Given the description of an element on the screen output the (x, y) to click on. 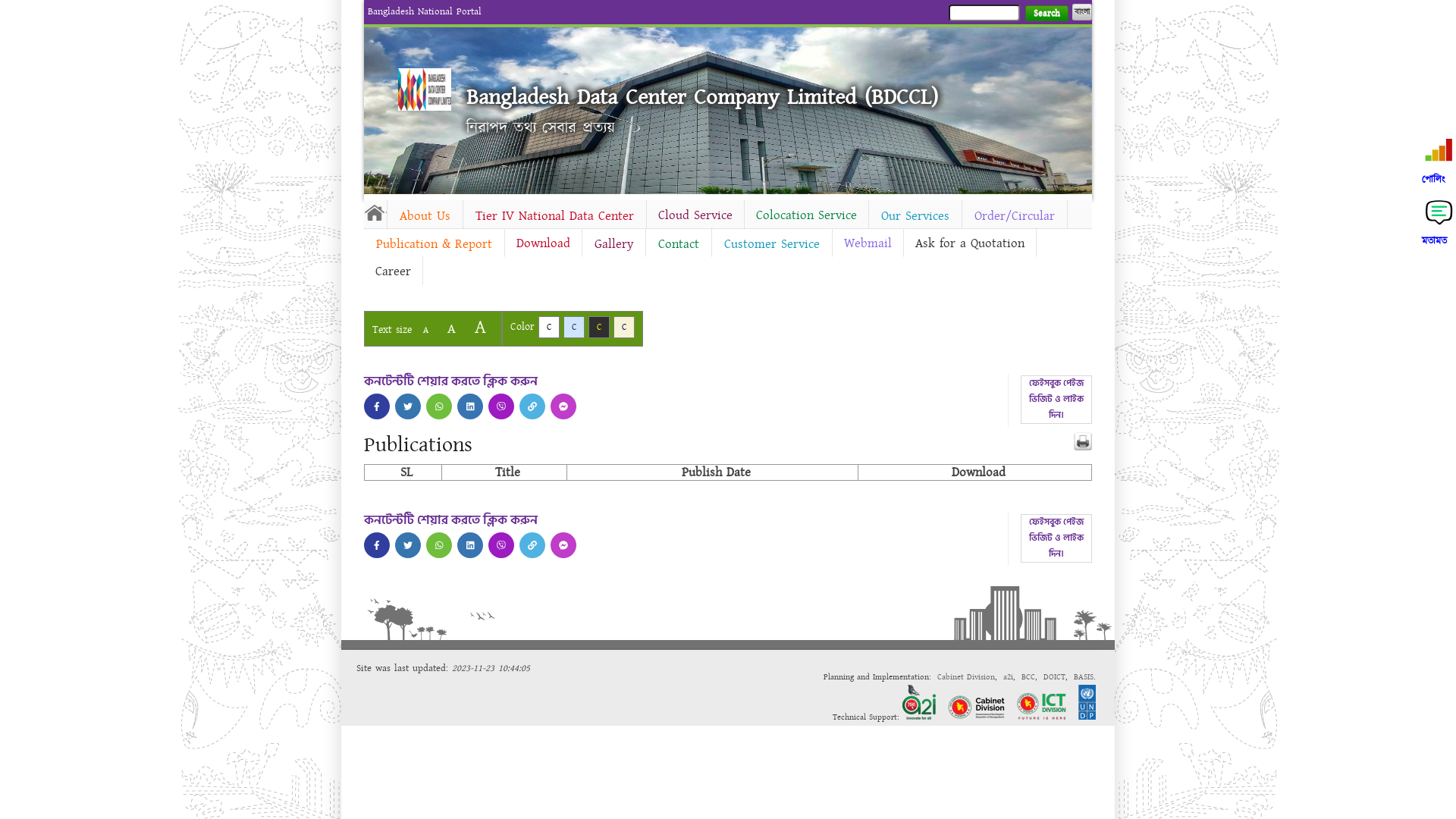
Tier IV National Data Center Element type: text (554, 216)
Search Element type: text (1046, 13)
About Us Element type: text (424, 216)
Career Element type: text (393, 271)
Cloud Service Element type: text (694, 215)
Gallery Element type: text (613, 244)
C Element type: text (623, 327)
BCC Element type: text (1028, 676)
Publication & Report Element type: text (434, 244)
BASIS Element type: text (1083, 676)
Order/Circular Element type: text (1014, 216)
Bangladesh Data Center Company Limited (BDCCL) Element type: text (702, 96)
C Element type: text (548, 327)
Bangladesh National Portal Element type: text (424, 11)
Contact Element type: text (678, 244)
C Element type: text (573, 327)
A Element type: text (425, 330)
a2i Element type: text (1008, 676)
Download Element type: text (543, 243)
Ask for a Quotation Element type: text (969, 243)
A Element type: text (451, 328)
Home Element type: hover (424, 89)
Webmail Element type: text (867, 243)
Cabinet Division Element type: text (965, 676)
A Element type: text (480, 327)
Customer Service Element type: text (771, 244)
Colocation Service Element type: text (806, 215)
Our Services Element type: text (915, 216)
C Element type: text (598, 327)
Home Element type: hover (375, 211)
DOICT Element type: text (1054, 676)
